Given the description of an element on the screen output the (x, y) to click on. 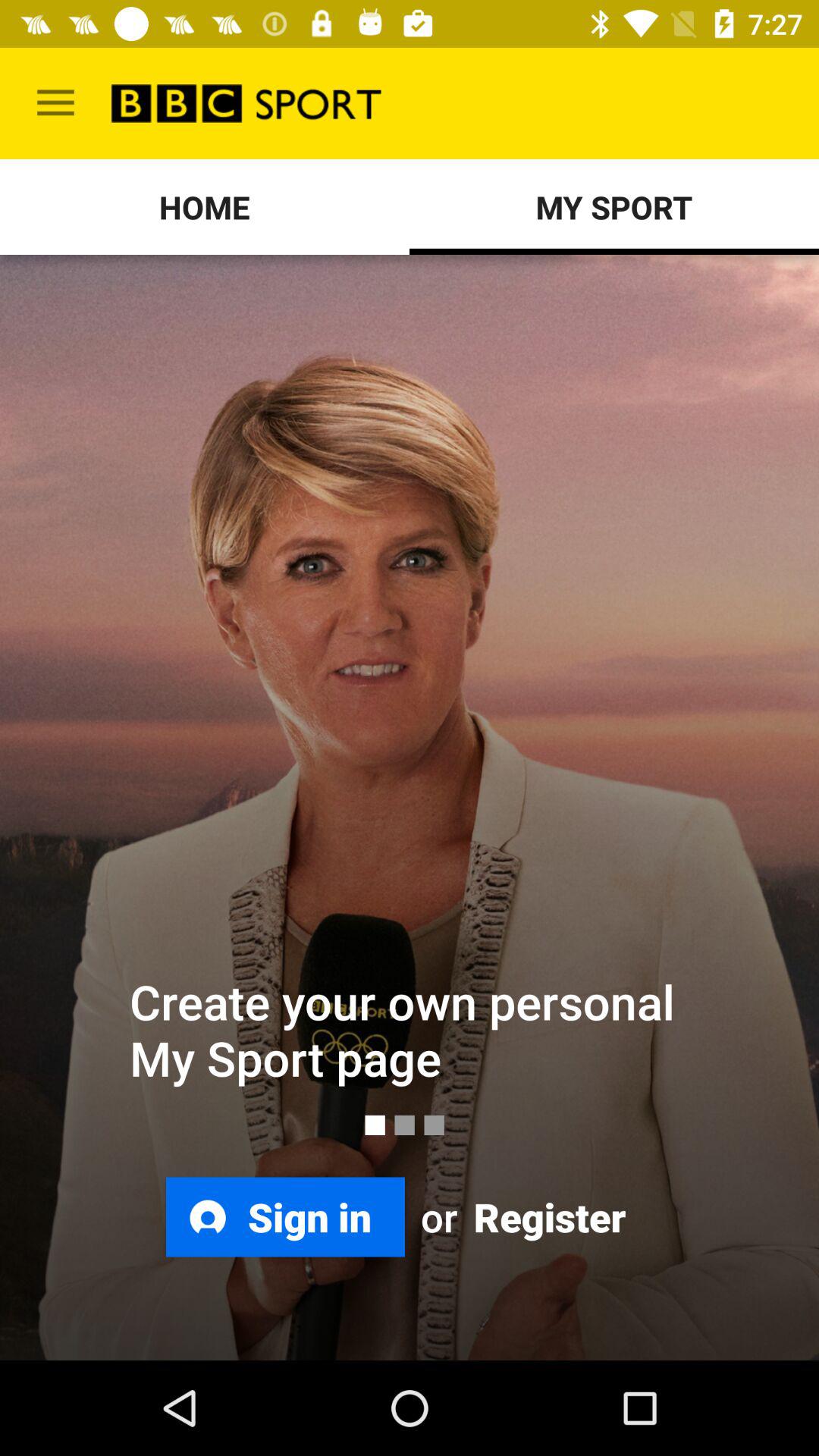
turn on the icon to the left of or item (285, 1216)
